Given the description of an element on the screen output the (x, y) to click on. 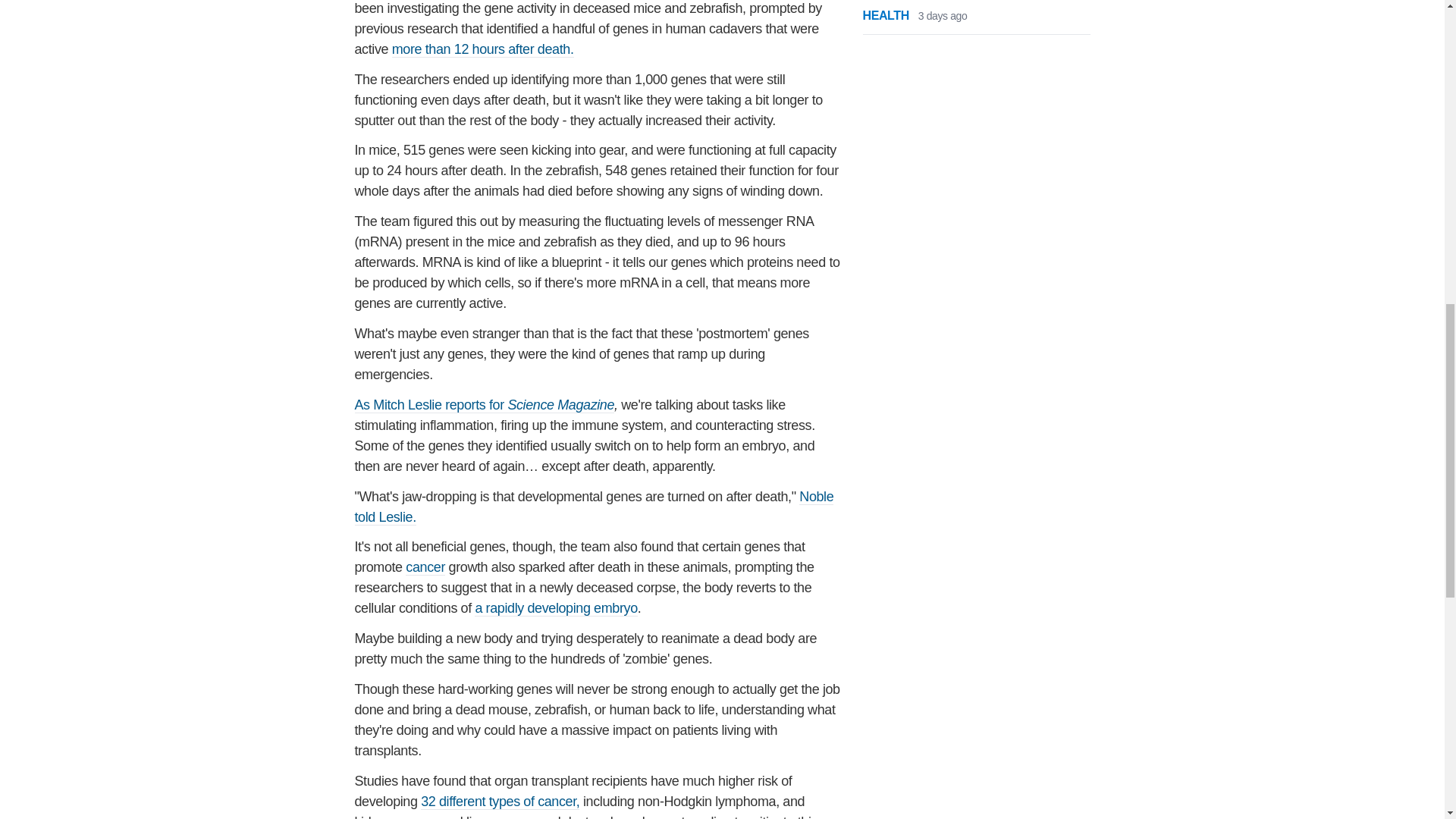
more than 12 hours after death. (482, 49)
As Mitch Leslie reports for (431, 405)
cancer (425, 567)
Noble told Leslie. (594, 506)
32 different types of cancer, (499, 801)
Science Magazine (560, 405)
a rapidly developing embryo (555, 608)
